Given the description of an element on the screen output the (x, y) to click on. 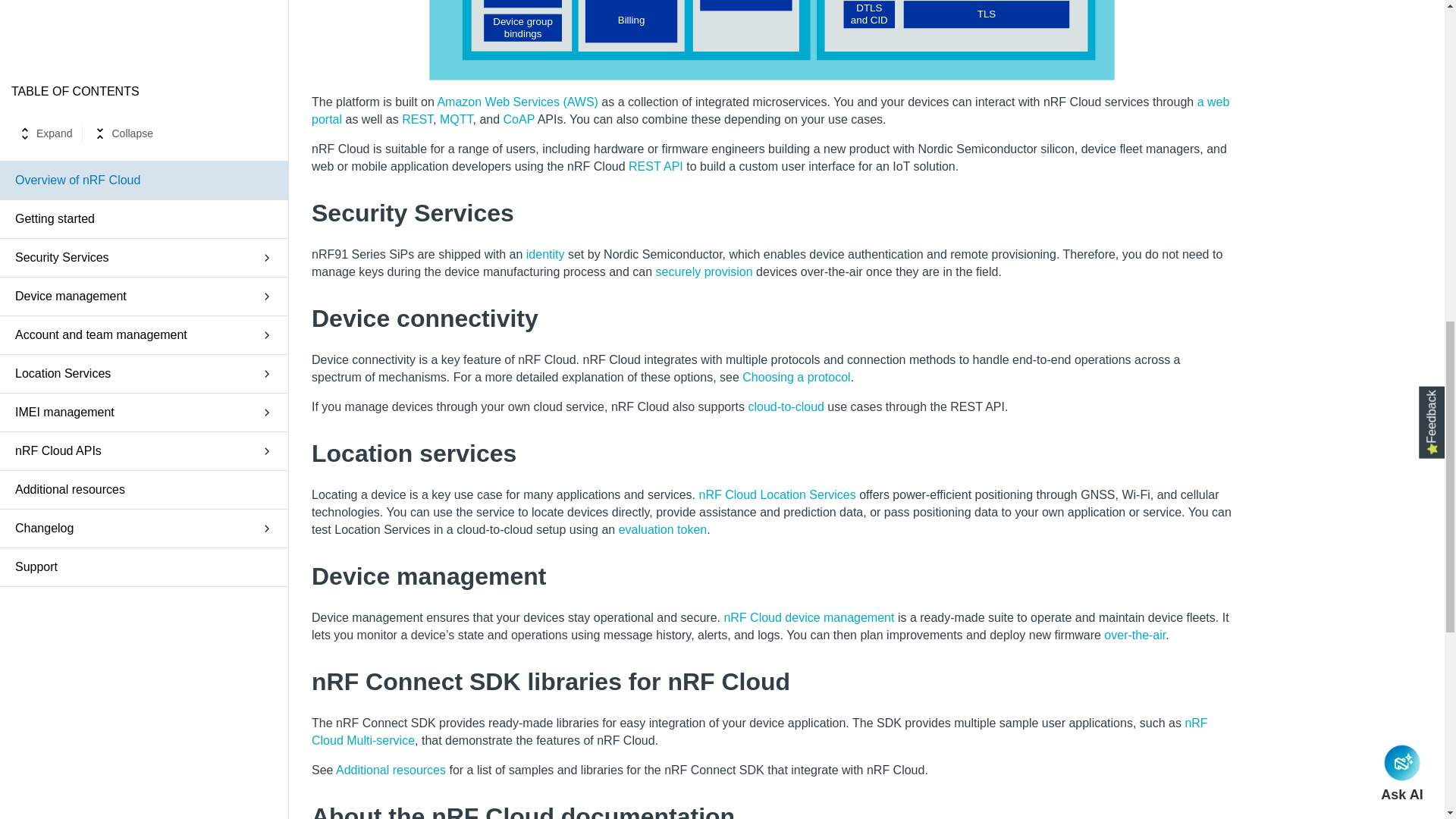
nRF Cloud component overview (771, 40)
